Given the description of an element on the screen output the (x, y) to click on. 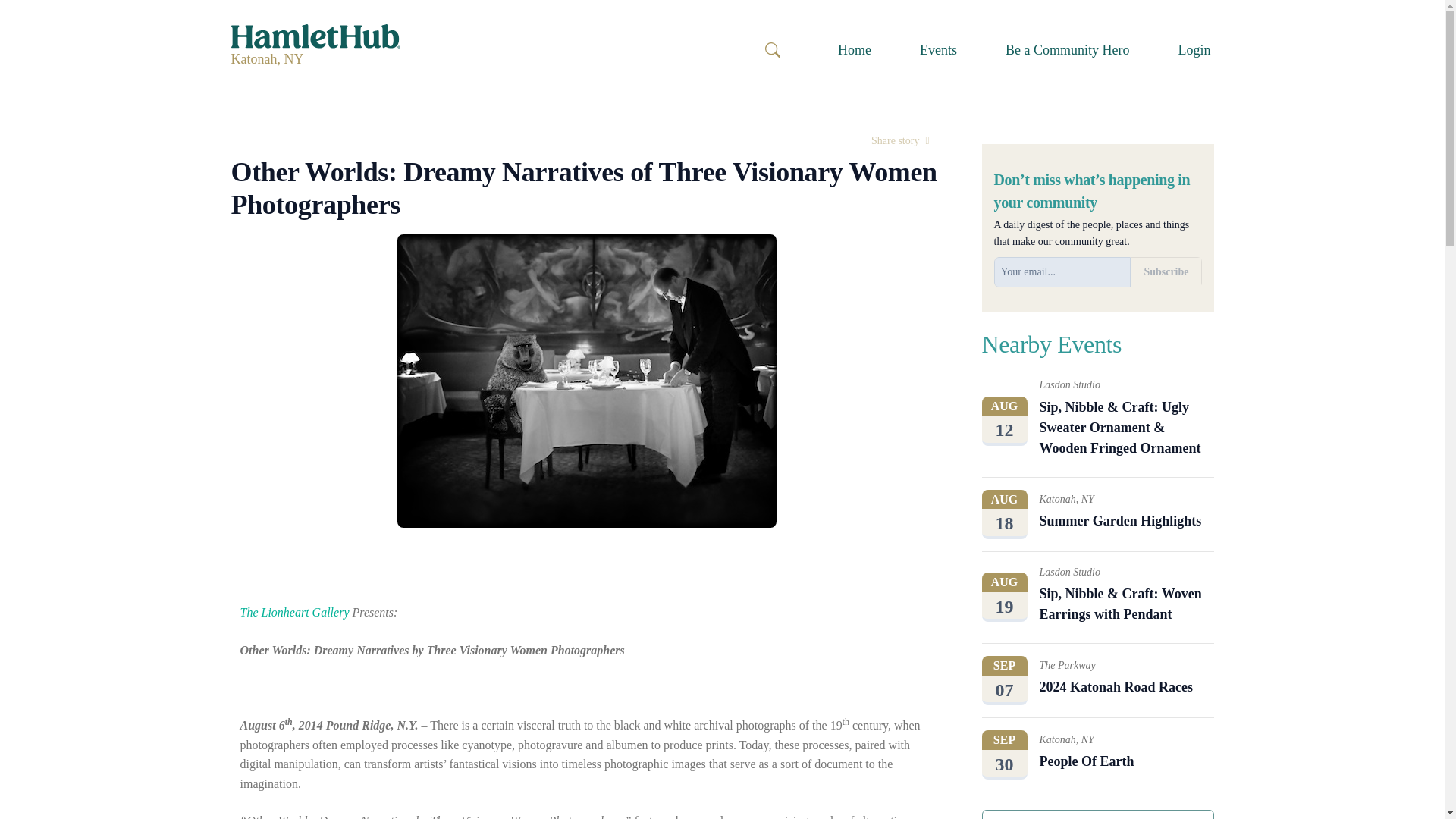
The Lionheart Gallery (294, 612)
Add New Event (1096, 754)
Login (1096, 814)
Katonah, NY (1194, 50)
Subscribe (266, 58)
Home (1166, 272)
Be a Community Hero (854, 50)
Share story (1067, 50)
Events (900, 141)
